Given the description of an element on the screen output the (x, y) to click on. 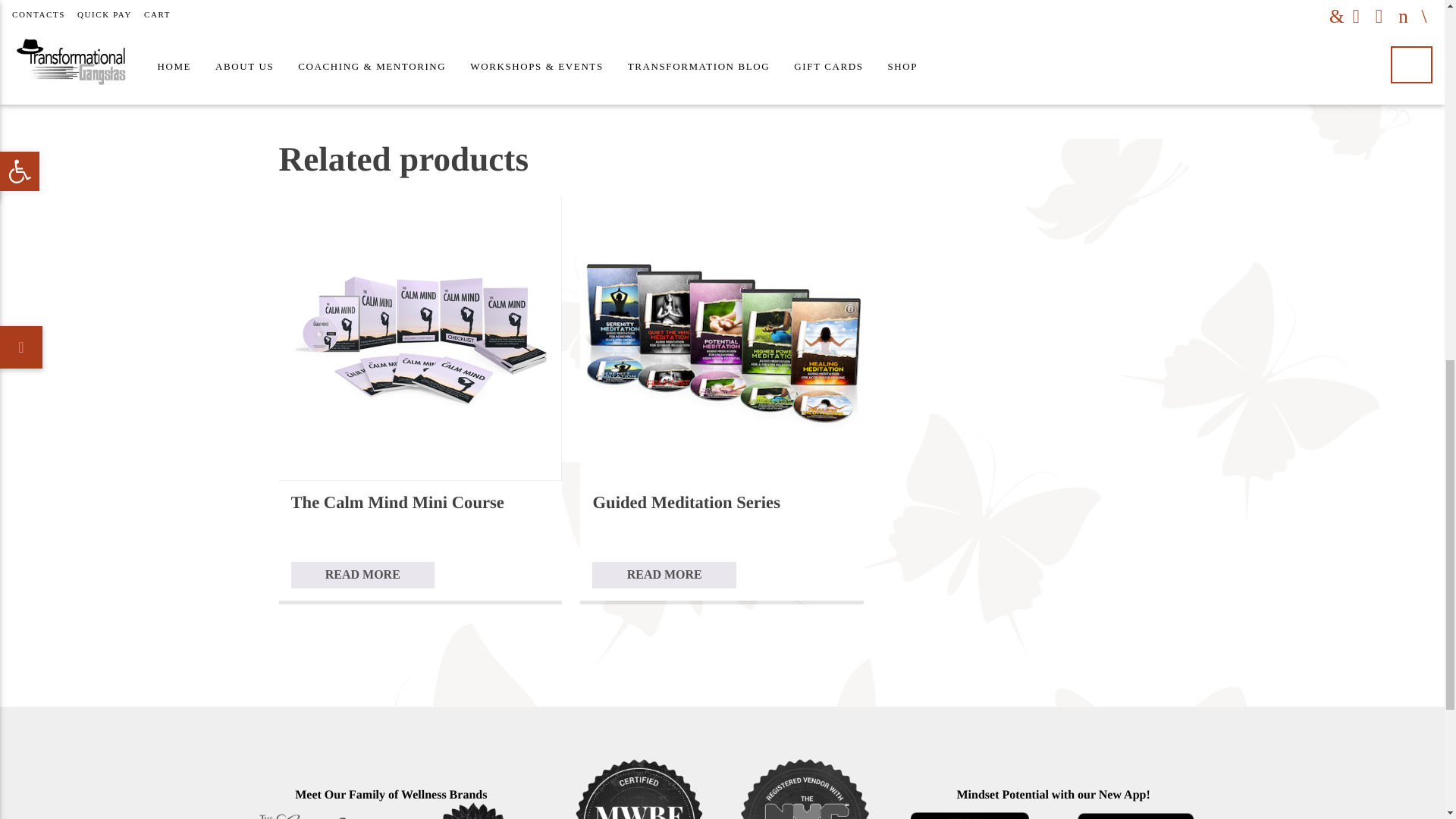
NYC-1024x1024 (804, 785)
mwbe-1024x1024 (638, 785)
green spa black (306, 810)
google play (970, 810)
spa black (473, 810)
App Store (1135, 810)
